Given the description of an element on the screen output the (x, y) to click on. 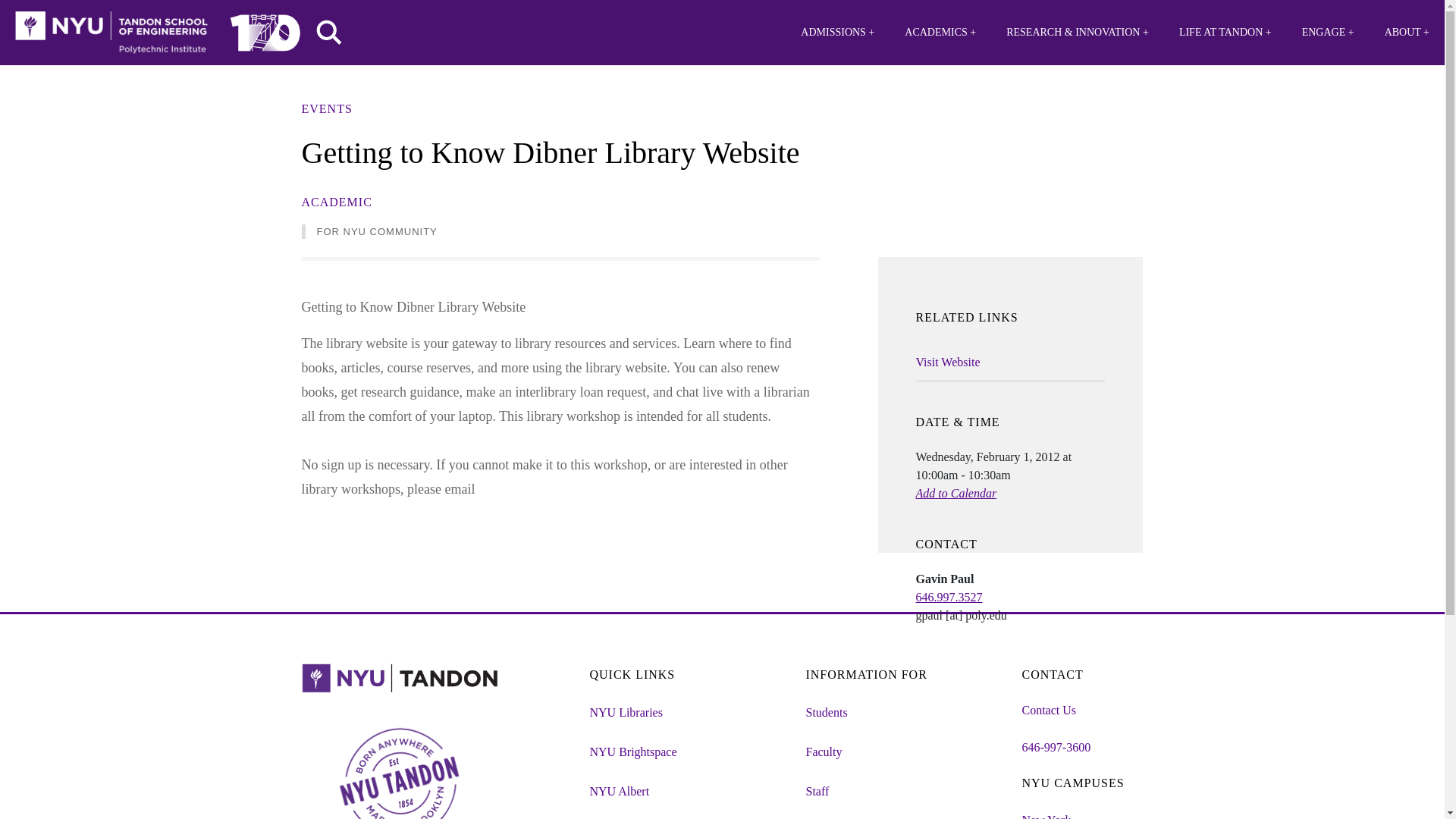
NYU Tandon School of Engineering - Polytechnic Institute (111, 32)
NYU Tandon Anniversary (264, 29)
NYU Tandon Logo (111, 32)
